Given the description of an element on the screen output the (x, y) to click on. 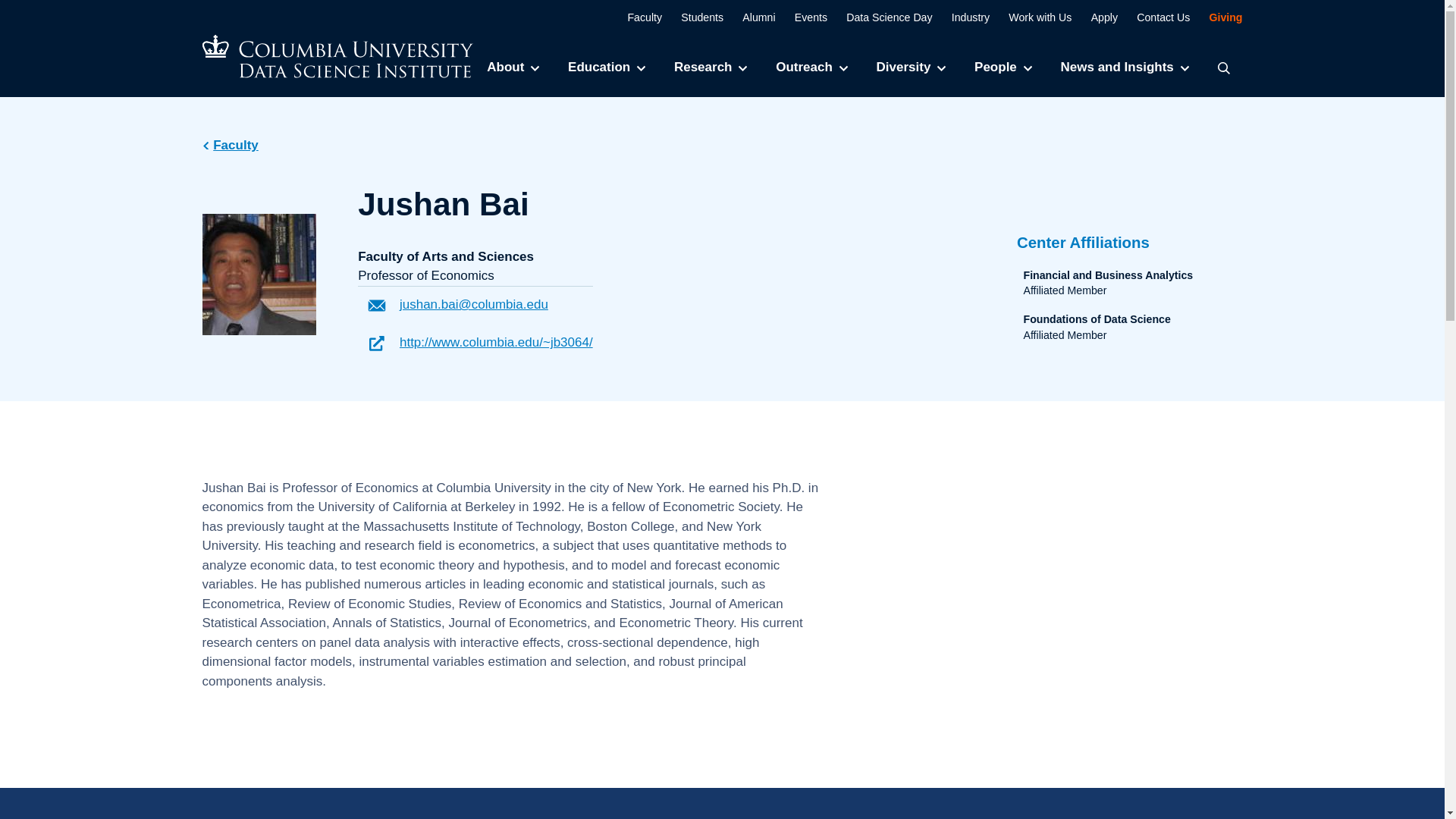
Giving (1216, 17)
Events (803, 17)
Research (710, 66)
Work with Us (1031, 17)
Industry (963, 17)
Data Science Day (881, 17)
Education (606, 66)
Apply (1096, 17)
About (512, 66)
Faculty (636, 17)
Alumni (751, 17)
Students (694, 17)
Contact Us (1155, 17)
